Given the description of an element on the screen output the (x, y) to click on. 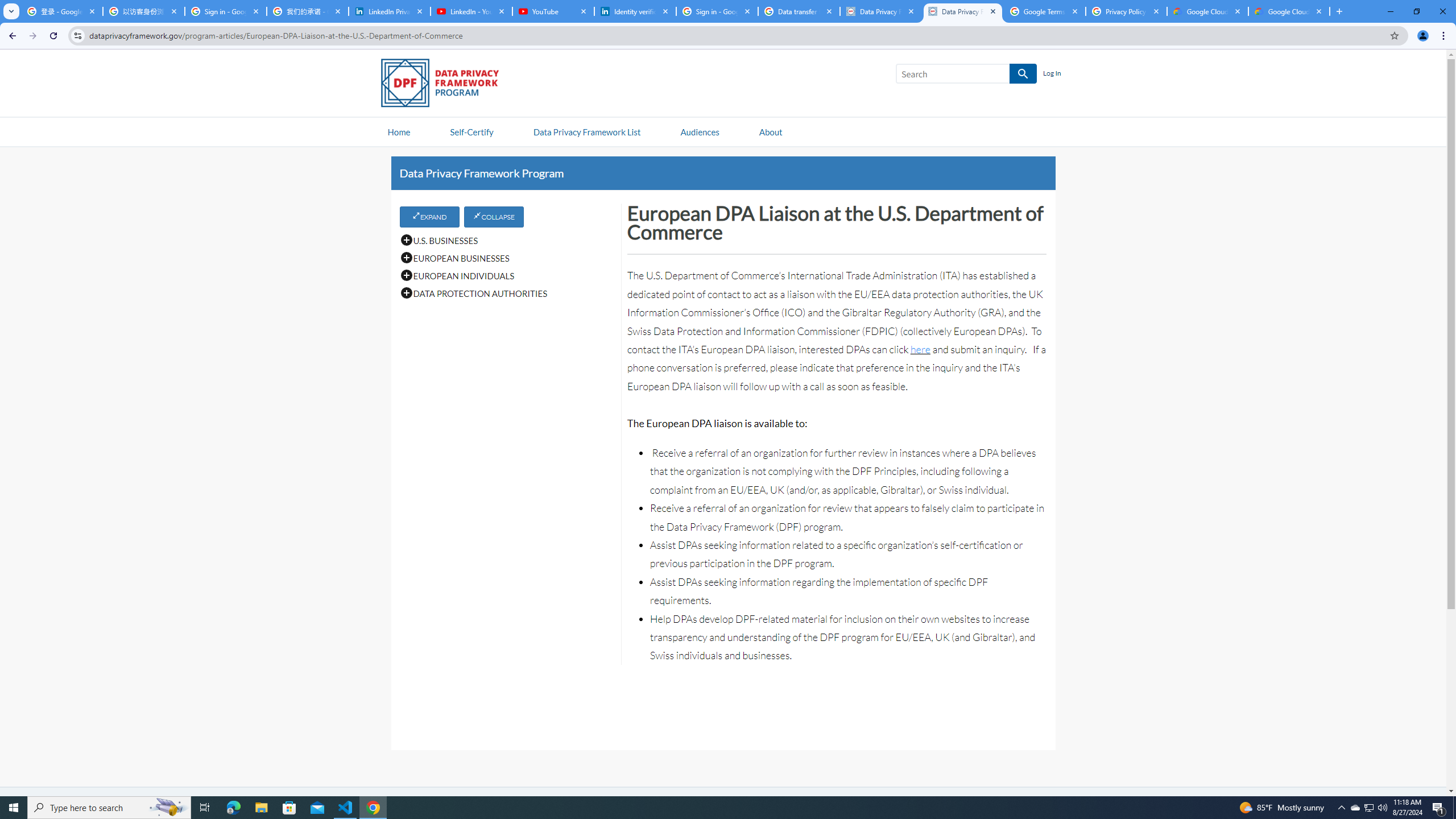
Data Privacy Framework (880, 11)
Data Privacy Framework List (586, 131)
Sign in - Google Accounts (716, 11)
